Given the description of an element on the screen output the (x, y) to click on. 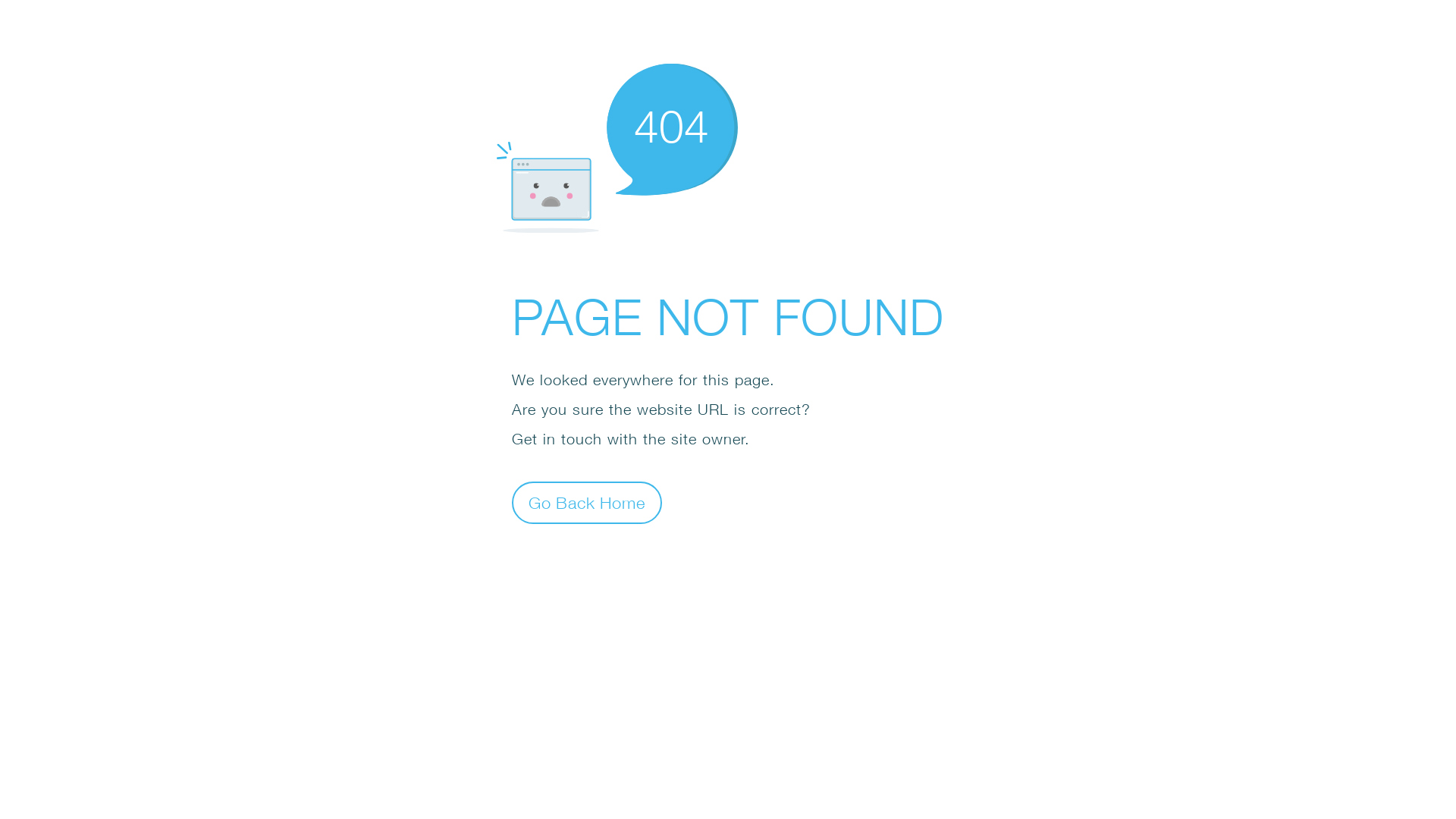
Go Back Home Element type: text (586, 502)
